Given the description of an element on the screen output the (x, y) to click on. 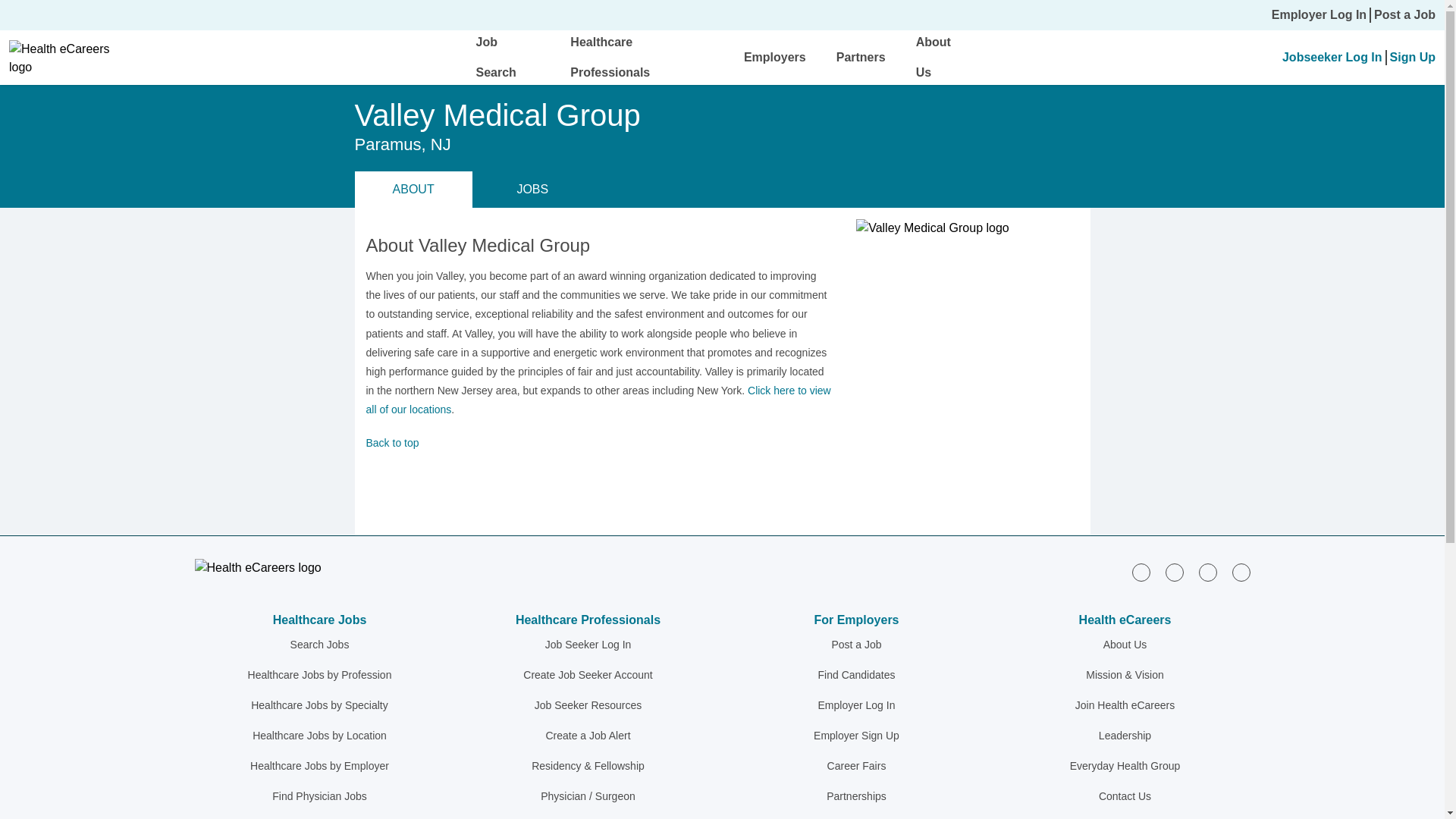
Employers (775, 56)
Back to top (598, 442)
Employer Log In (1319, 14)
youtube (1240, 572)
linkedin (1140, 572)
facebook (1173, 572)
Post a Job (1404, 14)
Healthcare Professionals (609, 57)
Job Search (496, 57)
twitter (1206, 572)
